Given the description of an element on the screen output the (x, y) to click on. 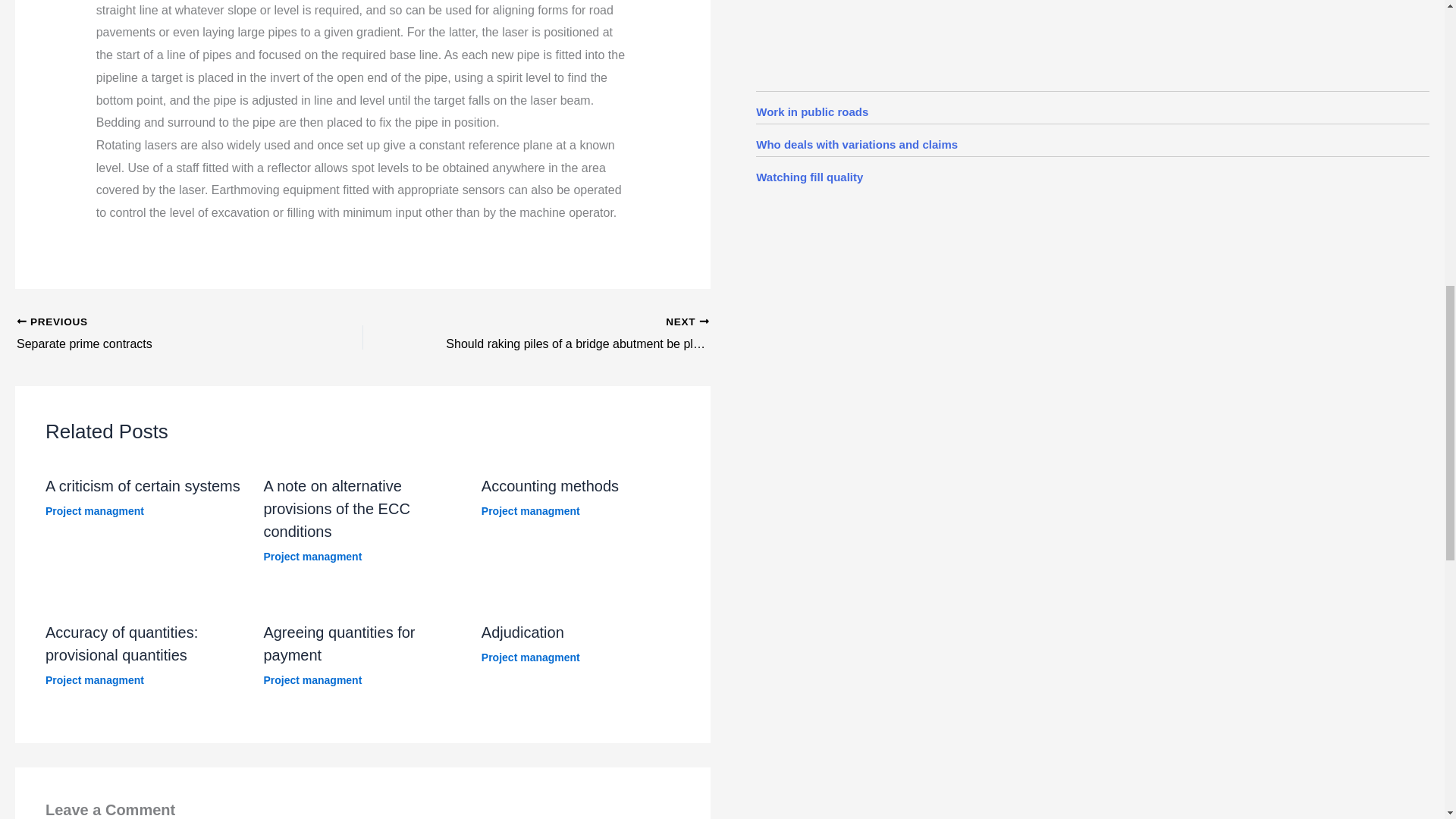
Separate prime contracts (155, 333)
Who deals with variations and claims (856, 144)
Work in public roads (811, 111)
Watching fill quality (809, 176)
